Given the description of an element on the screen output the (x, y) to click on. 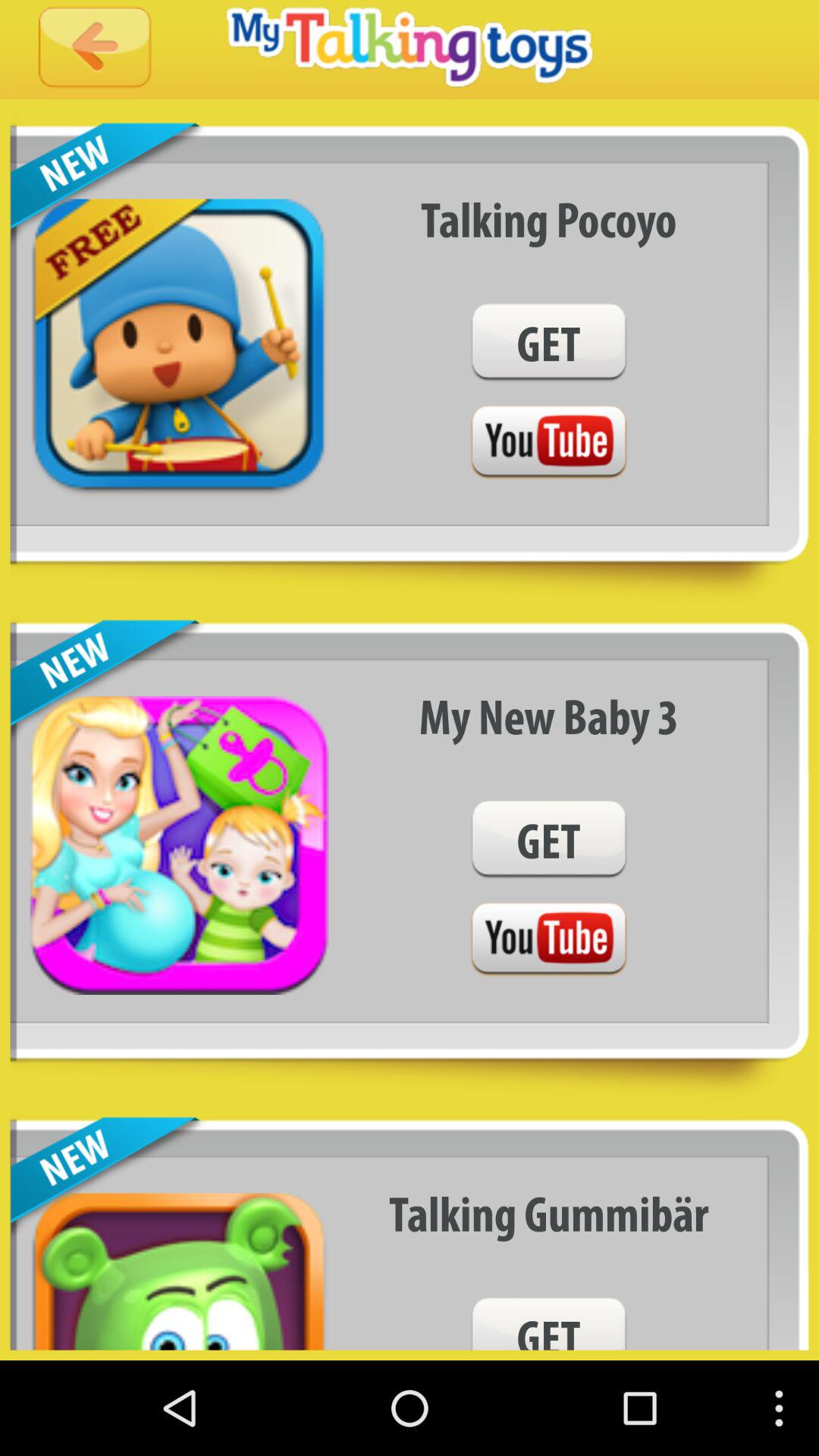
open the my new baby (548, 715)
